Given the description of an element on the screen output the (x, y) to click on. 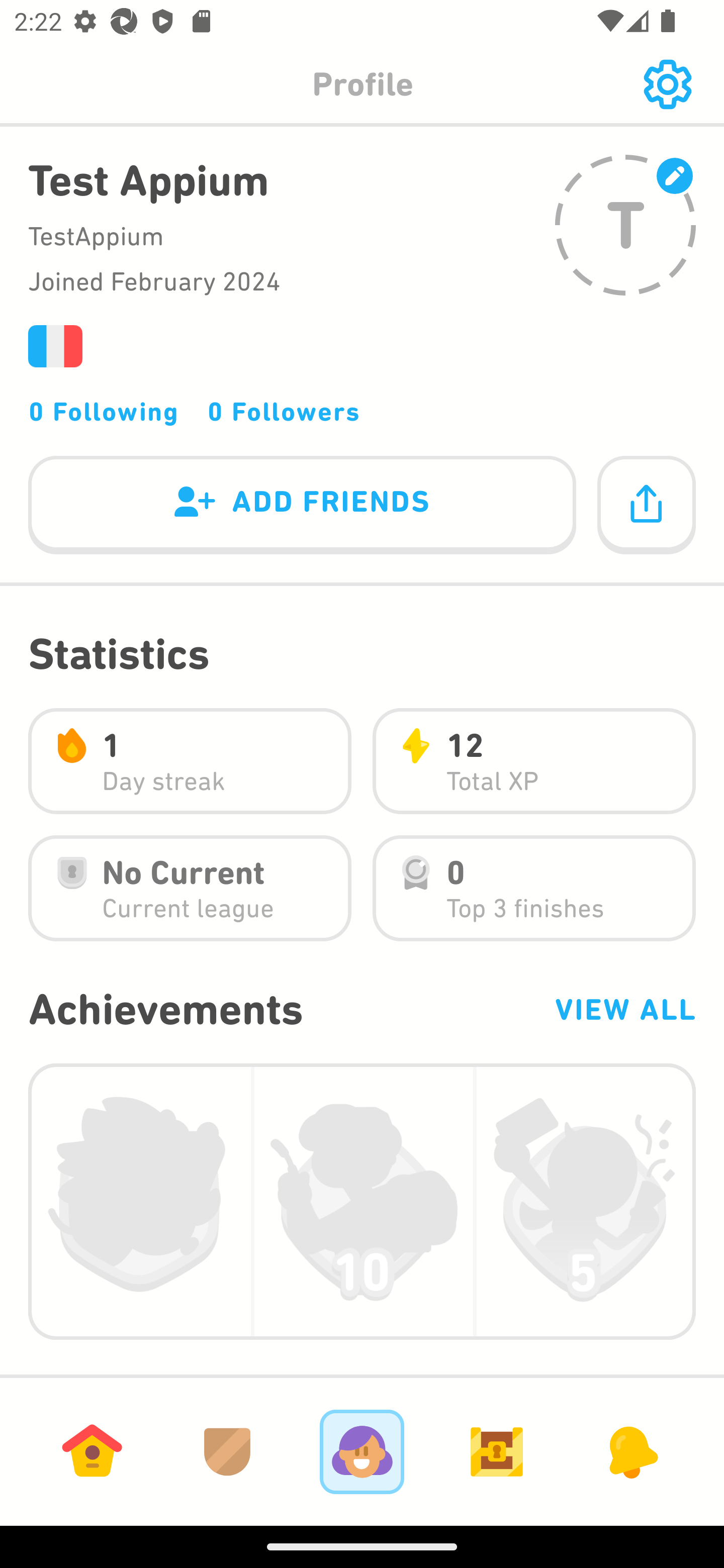
Settings (667, 84)
0 Following (103, 411)
0 Followers (283, 411)
ADD FRIENDS (302, 505)
1 Day streak (189, 760)
VIEW ALL (624, 1009)
Learn Tab (91, 1451)
Leagues Tab (227, 1451)
Profile Tab (361, 1451)
Goals Tab (496, 1451)
News Tab (631, 1451)
